Given the description of an element on the screen output the (x, y) to click on. 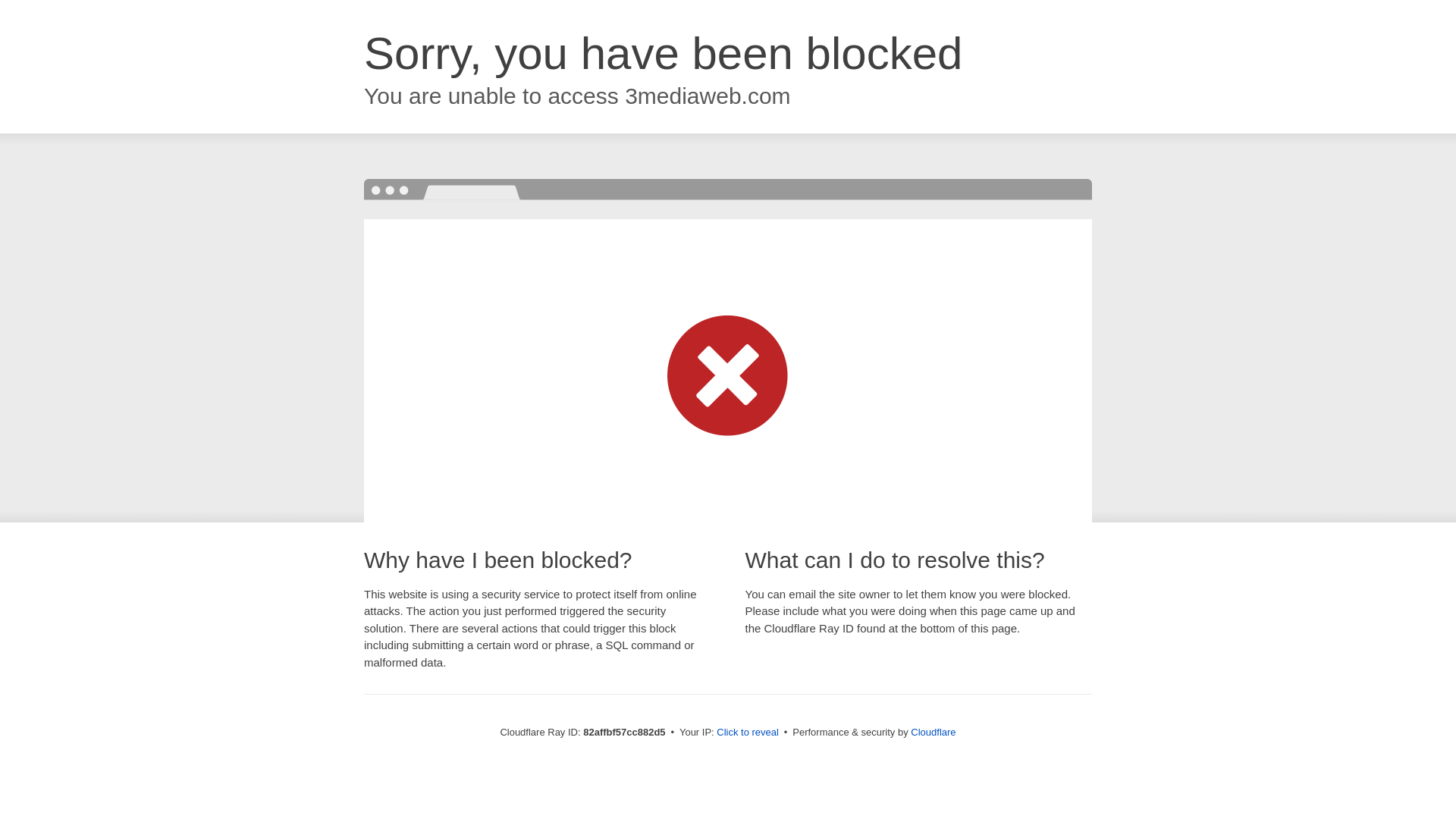
Click to reveal Element type: text (747, 732)
Cloudflare Element type: text (932, 731)
